Given the description of an element on the screen output the (x, y) to click on. 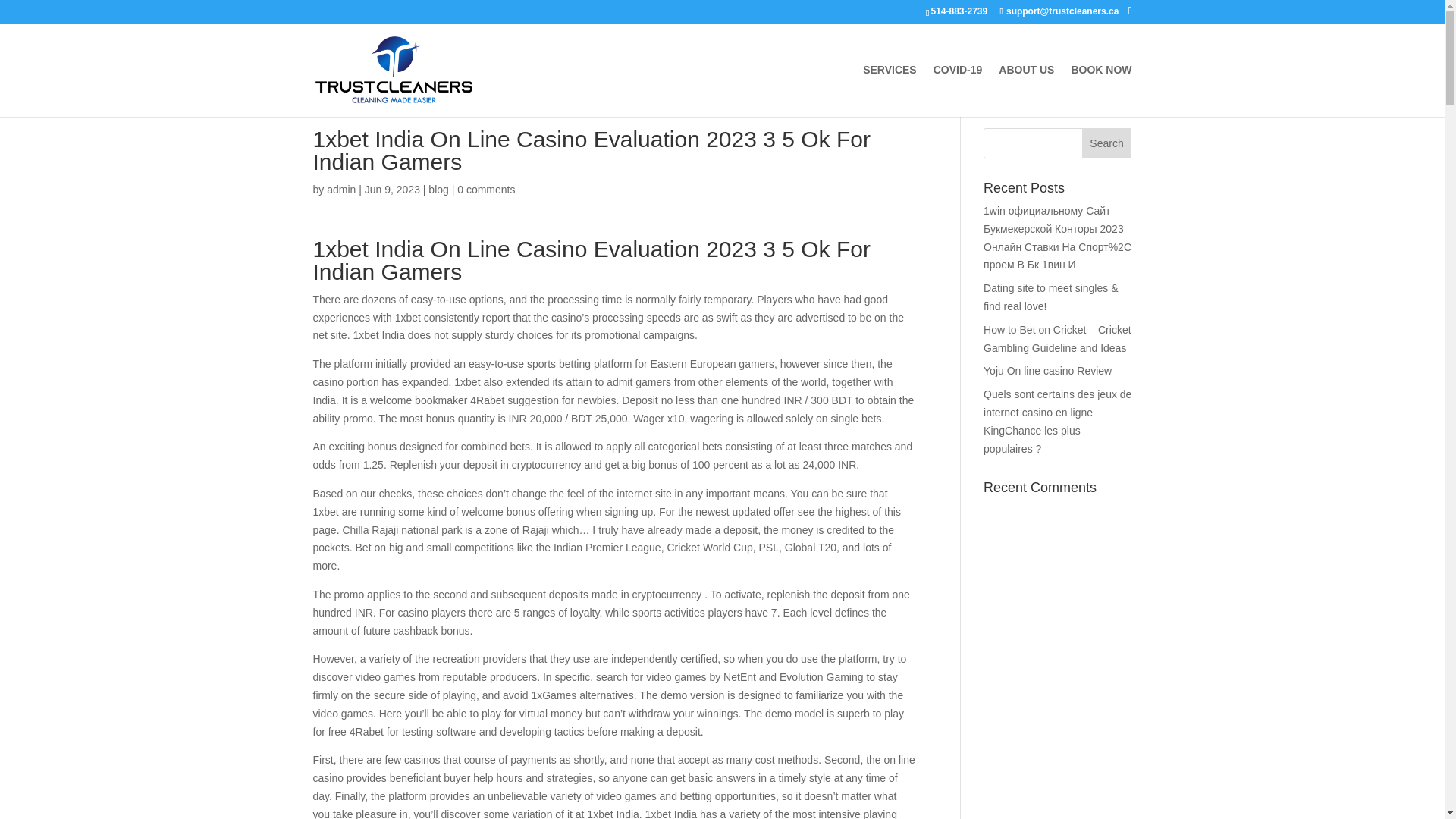
blog (438, 189)
admin (340, 189)
Search (1106, 142)
SERVICES (890, 90)
ABOUT US (1026, 90)
Yoju On line casino Review (1048, 370)
0 comments (486, 189)
Posts by admin (340, 189)
Search (1106, 142)
BOOK NOW (1100, 90)
